Given the description of an element on the screen output the (x, y) to click on. 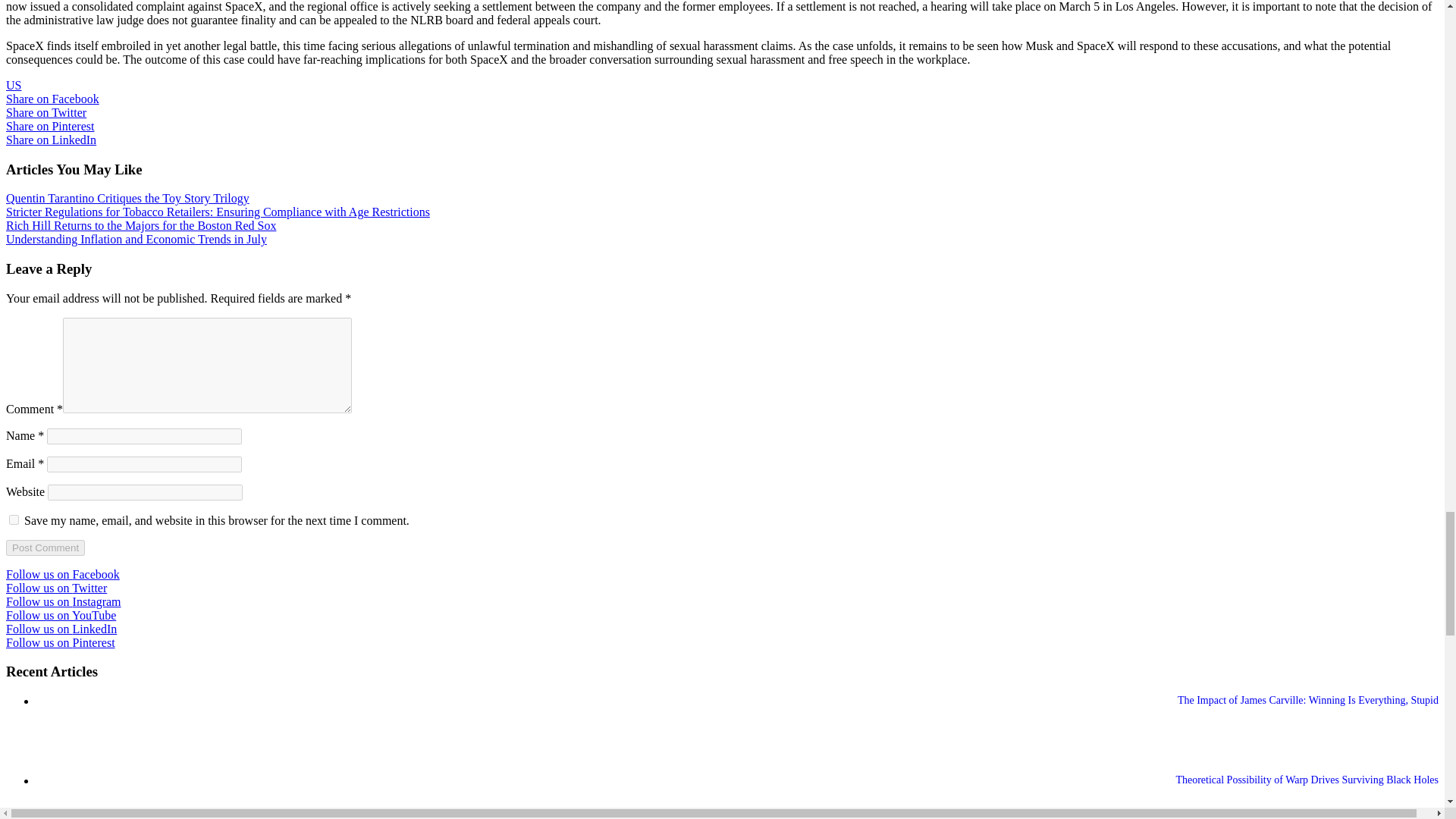
yes (13, 519)
Post Comment (44, 547)
US (13, 84)
